Given the description of an element on the screen output the (x, y) to click on. 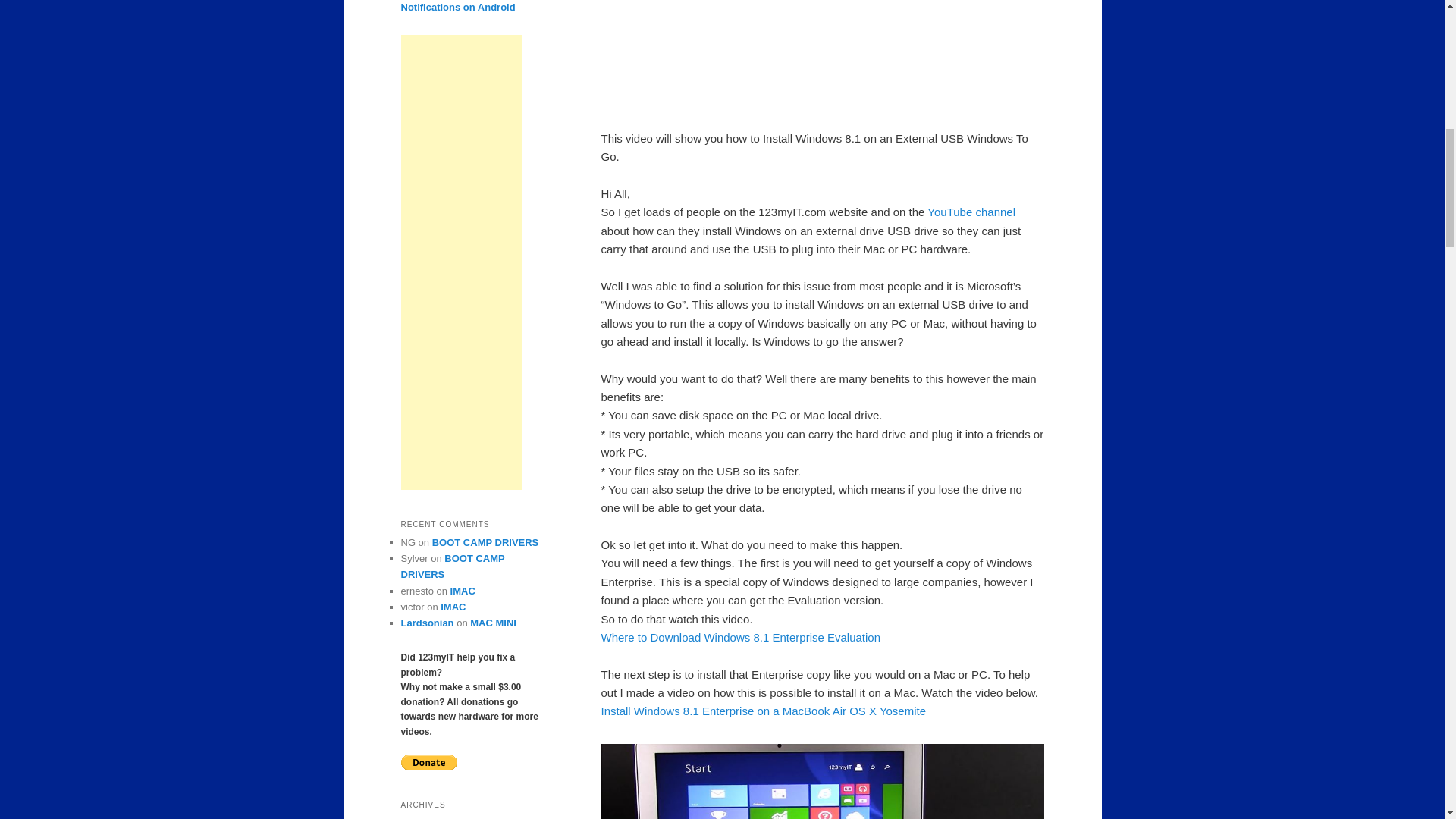
Where to Download Windows 8.1 Enterprise Evaluation (739, 636)
123myIT You Tube Channel (970, 211)
